Given the description of an element on the screen output the (x, y) to click on. 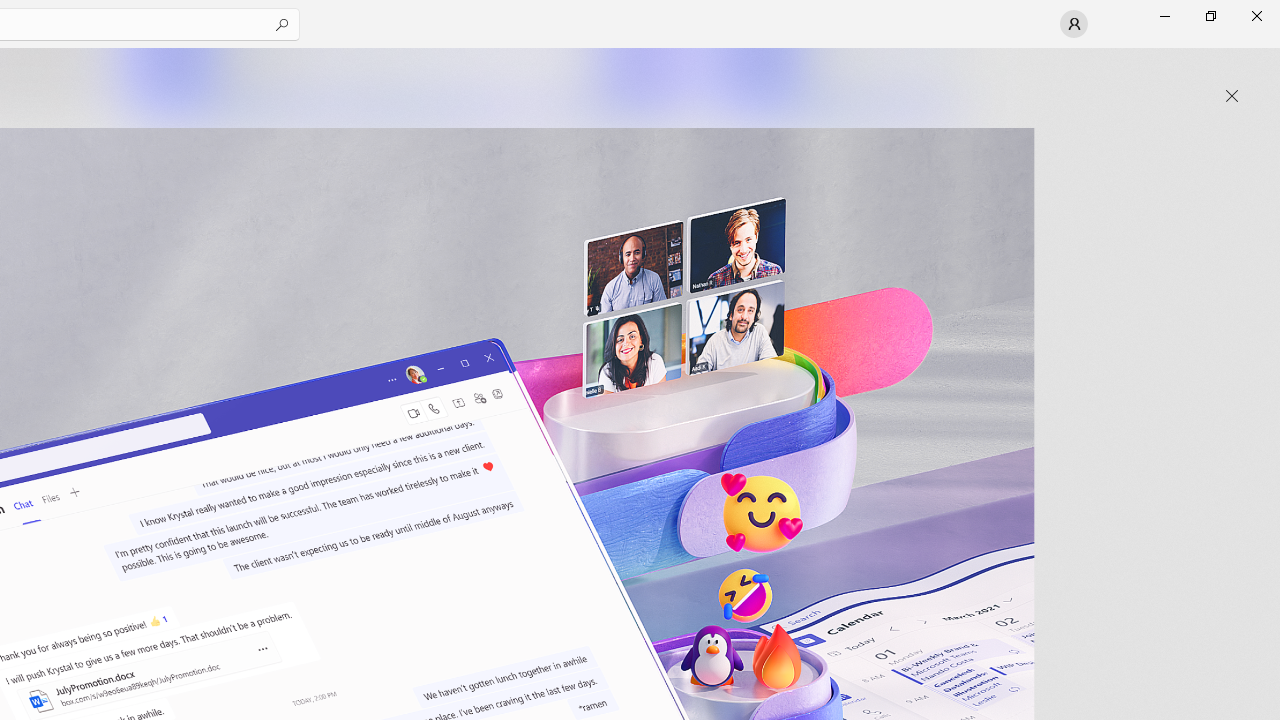
Screenshot 3 (833, 81)
Screenshot 2 (406, 81)
close popup window (1232, 95)
Show all ratings and reviews (924, 495)
